Given the description of an element on the screen output the (x, y) to click on. 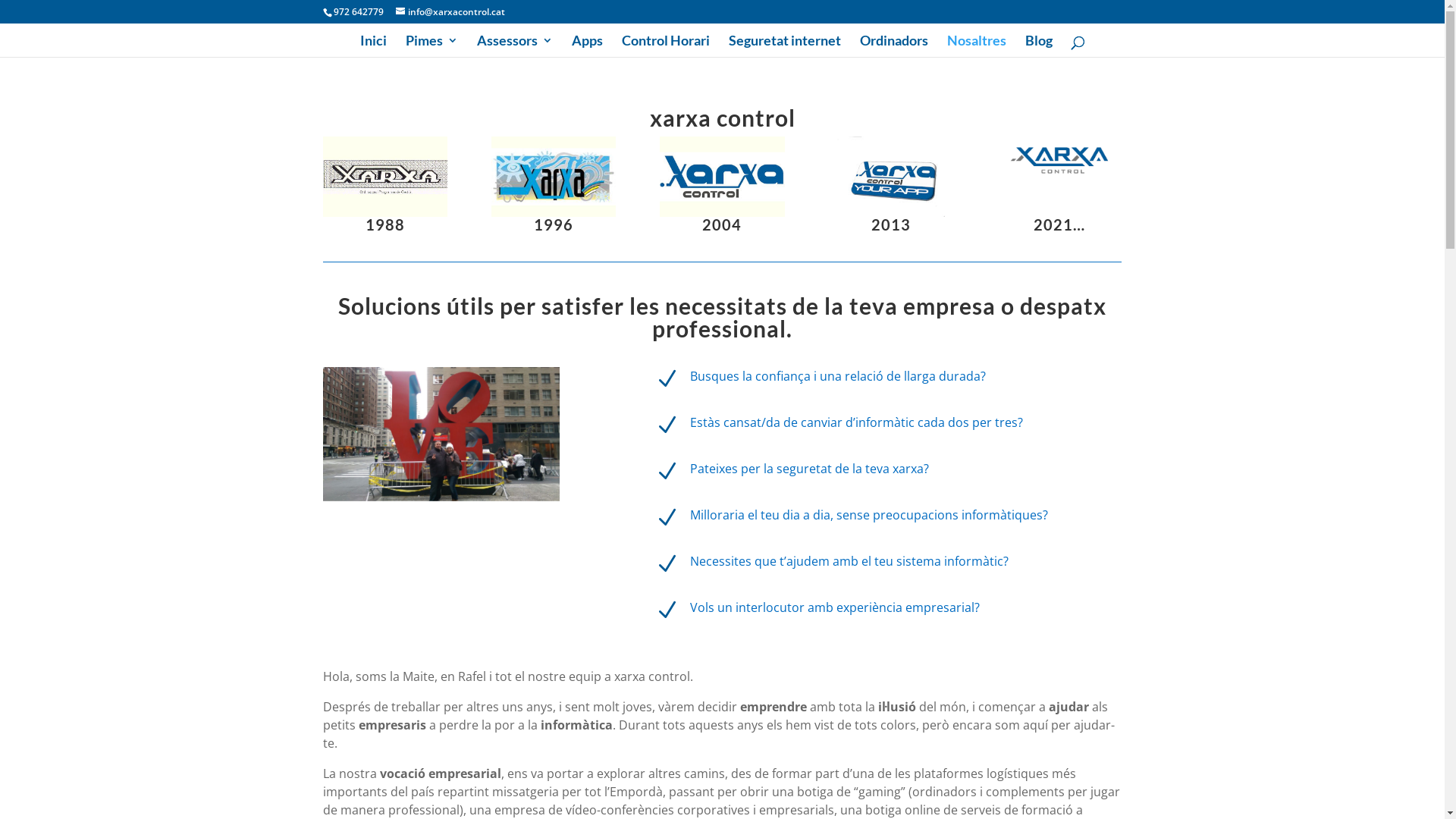
Ordinadors Element type: text (893, 45)
xarxa 1988 Element type: hover (385, 176)
xarxa control 2013 Element type: hover (890, 176)
Control Horari Element type: text (665, 45)
Blog Element type: text (1038, 45)
Apps Element type: text (586, 45)
Inici Element type: text (372, 45)
Nosaltres Element type: text (975, 45)
xarxa control Element type: hover (1059, 160)
info@xarxacontrol.cat Element type: text (450, 11)
Assessors Element type: text (514, 45)
Seguretat internet Element type: text (784, 45)
Pimes Element type: text (430, 45)
